Given the description of an element on the screen output the (x, y) to click on. 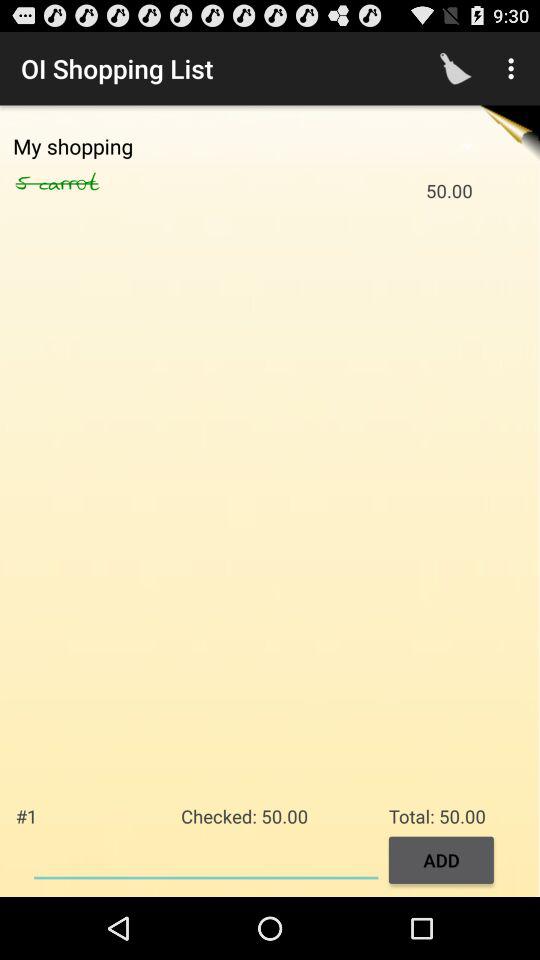
tap icon below the my shopping item (27, 183)
